Given the description of an element on the screen output the (x, y) to click on. 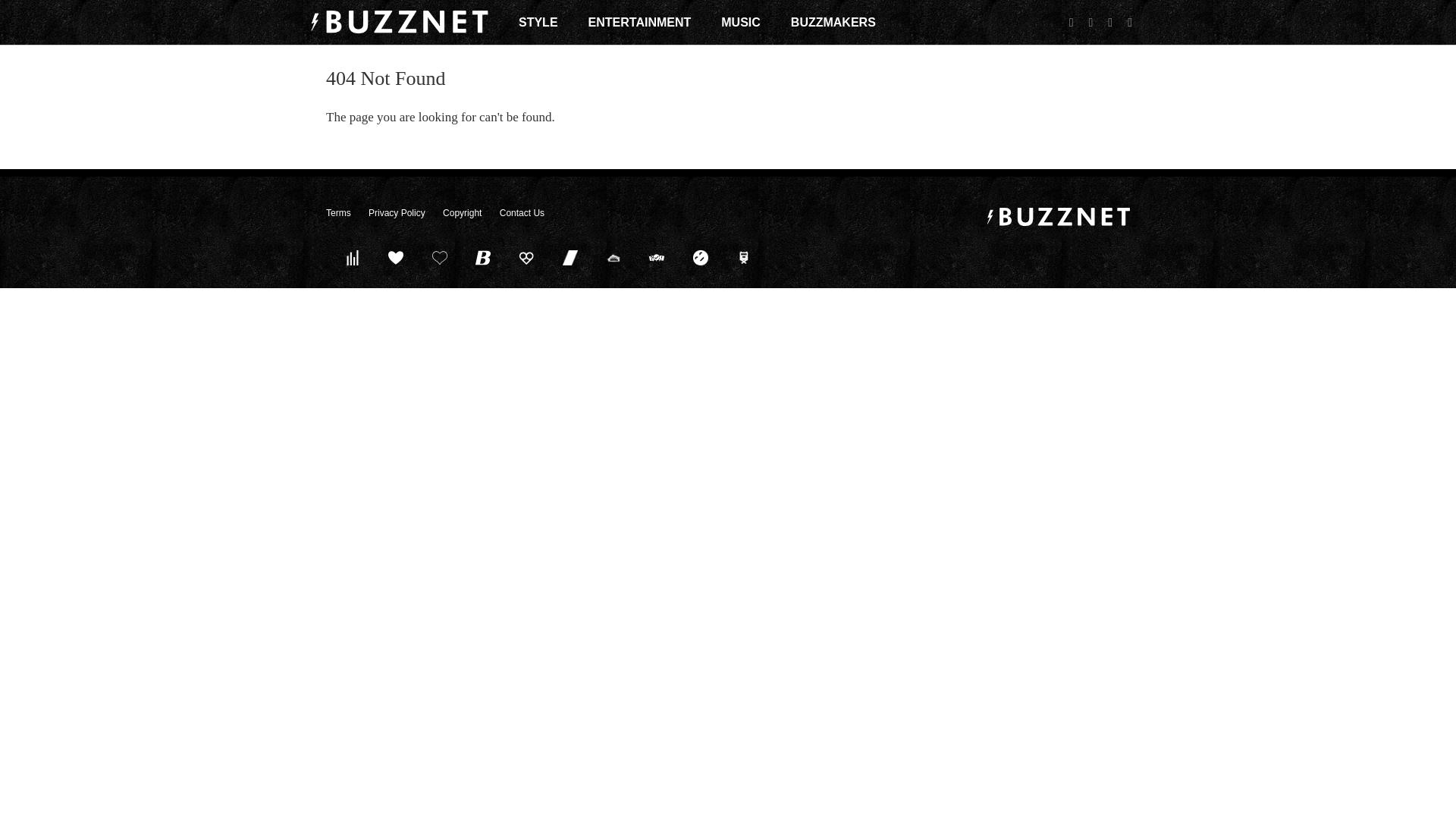
Terms (338, 213)
Pure Volume (351, 257)
Post Fun (439, 257)
MUSIC (740, 22)
STYLE (538, 22)
Privacy Policy (396, 213)
Copyright (461, 213)
ENTERTAINMENT (639, 22)
BUZZMAKERS (833, 22)
Contact Us (521, 213)
